Given the description of an element on the screen output the (x, y) to click on. 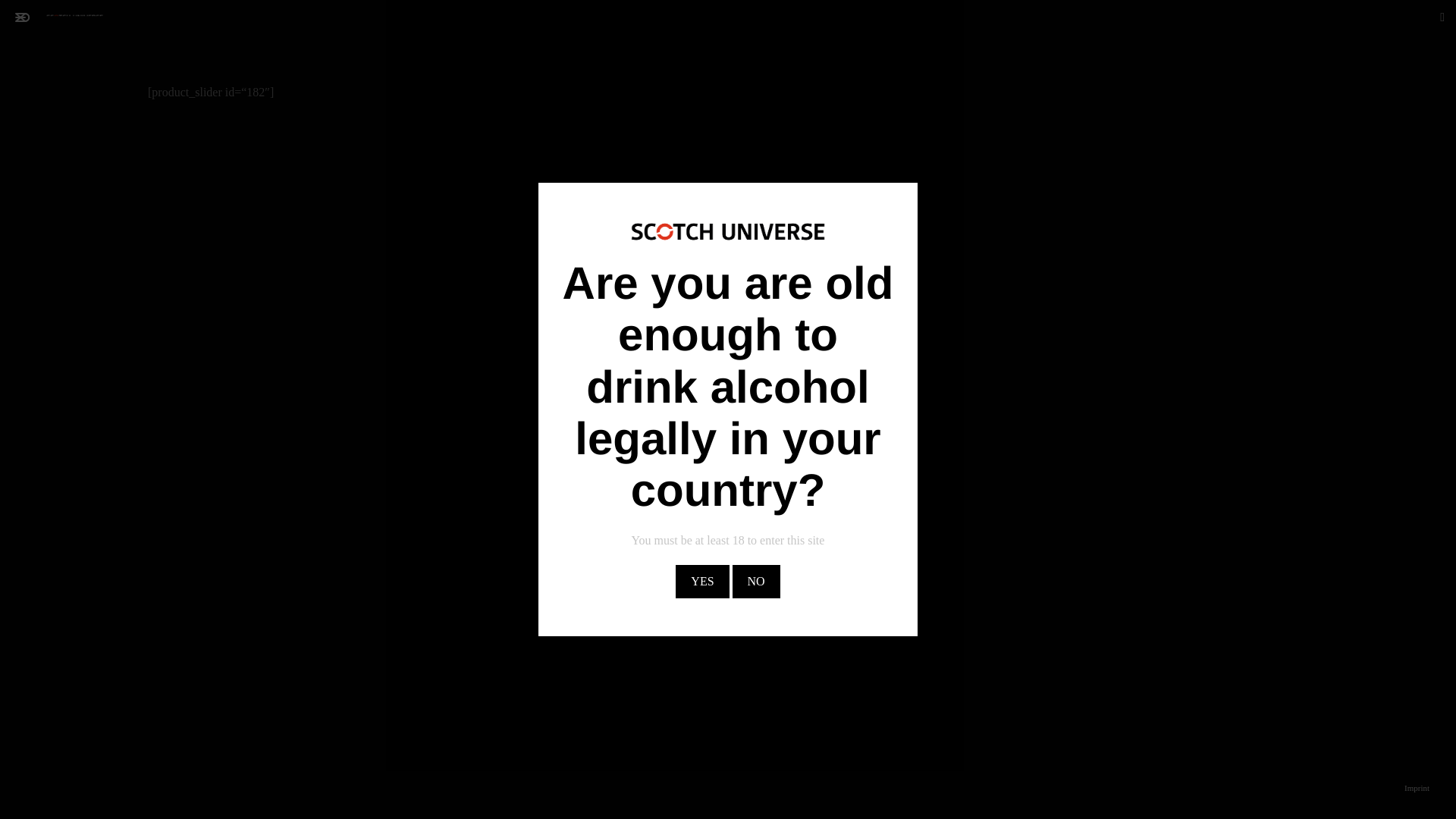
NO (756, 581)
YES (702, 581)
Imprint (1417, 787)
